Given the description of an element on the screen output the (x, y) to click on. 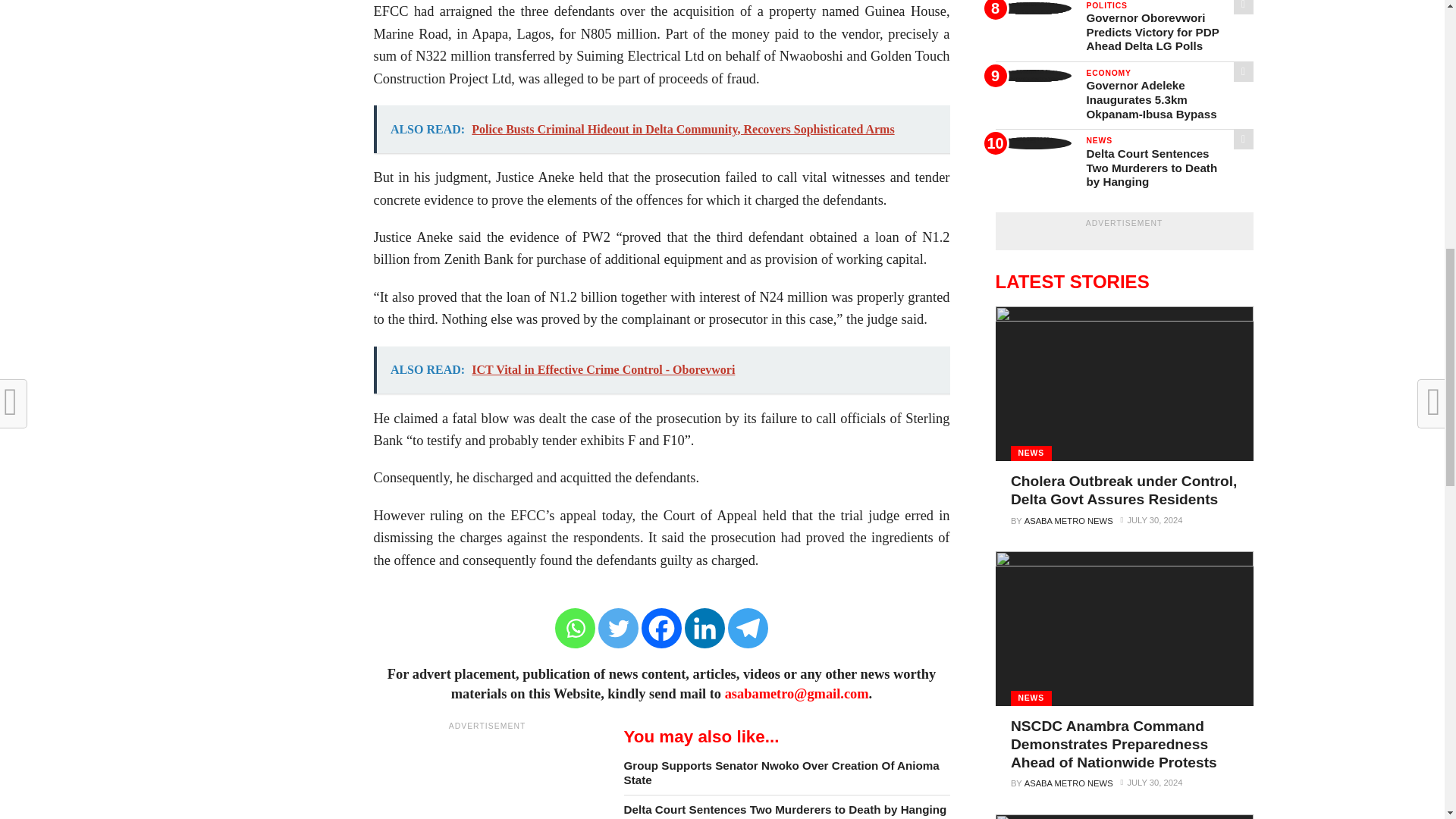
Whatsapp (574, 628)
Twitter (618, 628)
Facebook (661, 628)
